Given the description of an element on the screen output the (x, y) to click on. 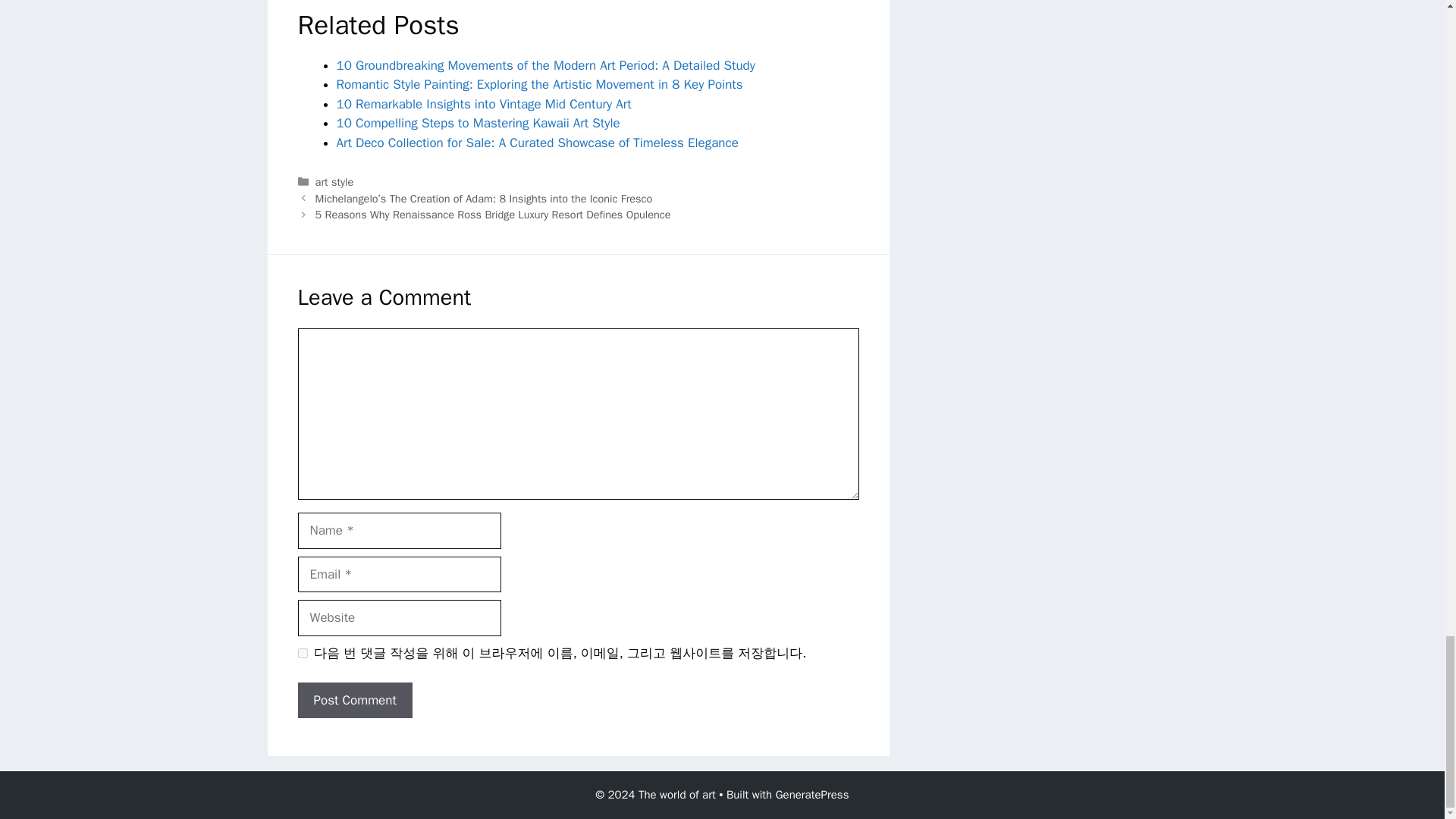
art style (334, 182)
Post Comment (354, 700)
10 Compelling Steps to Mastering Kawaii Art Style (478, 123)
Post Comment (354, 700)
10 Remarkable Insights into Vintage Mid Century Art (483, 104)
yes (302, 653)
